Given the description of an element on the screen output the (x, y) to click on. 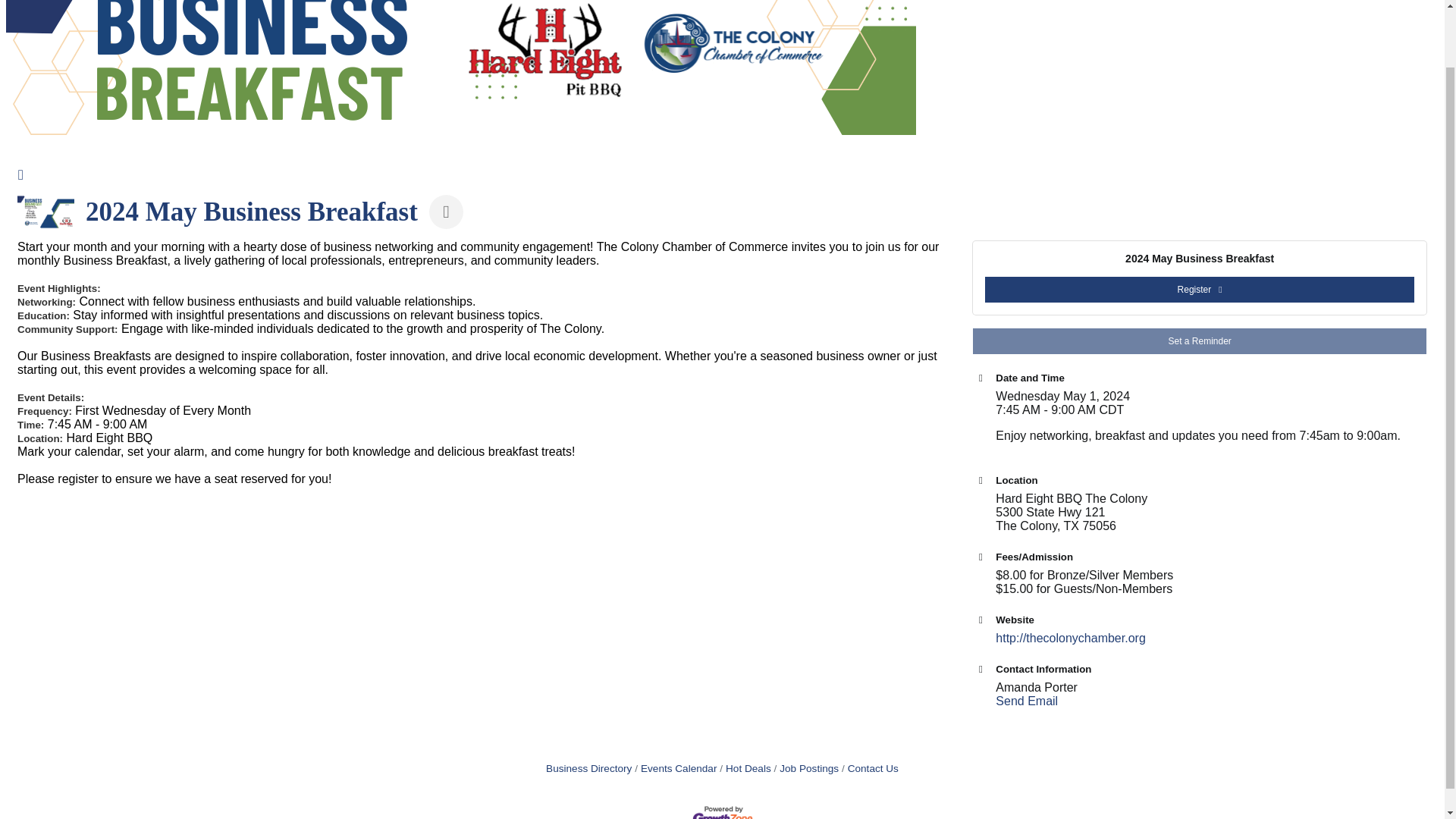
Events Calendar (675, 767)
Send Email (1026, 700)
Contact Us (869, 767)
Business Directory (588, 767)
Hot Deals (744, 767)
Set a Reminder (1199, 340)
Register (1199, 289)
Job Postings (805, 767)
